Given the description of an element on the screen output the (x, y) to click on. 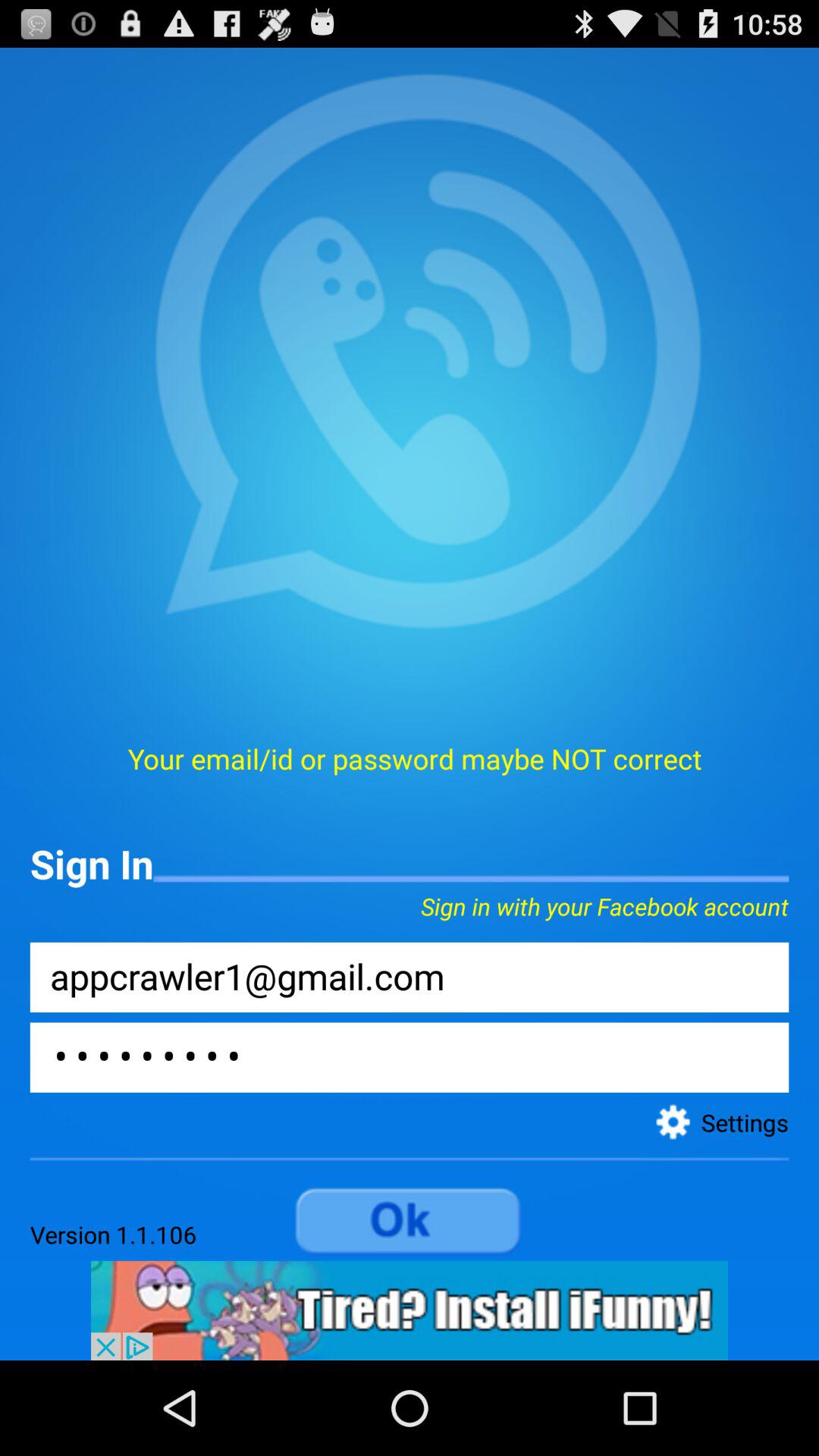
password box (409, 1057)
